Given the description of an element on the screen output the (x, y) to click on. 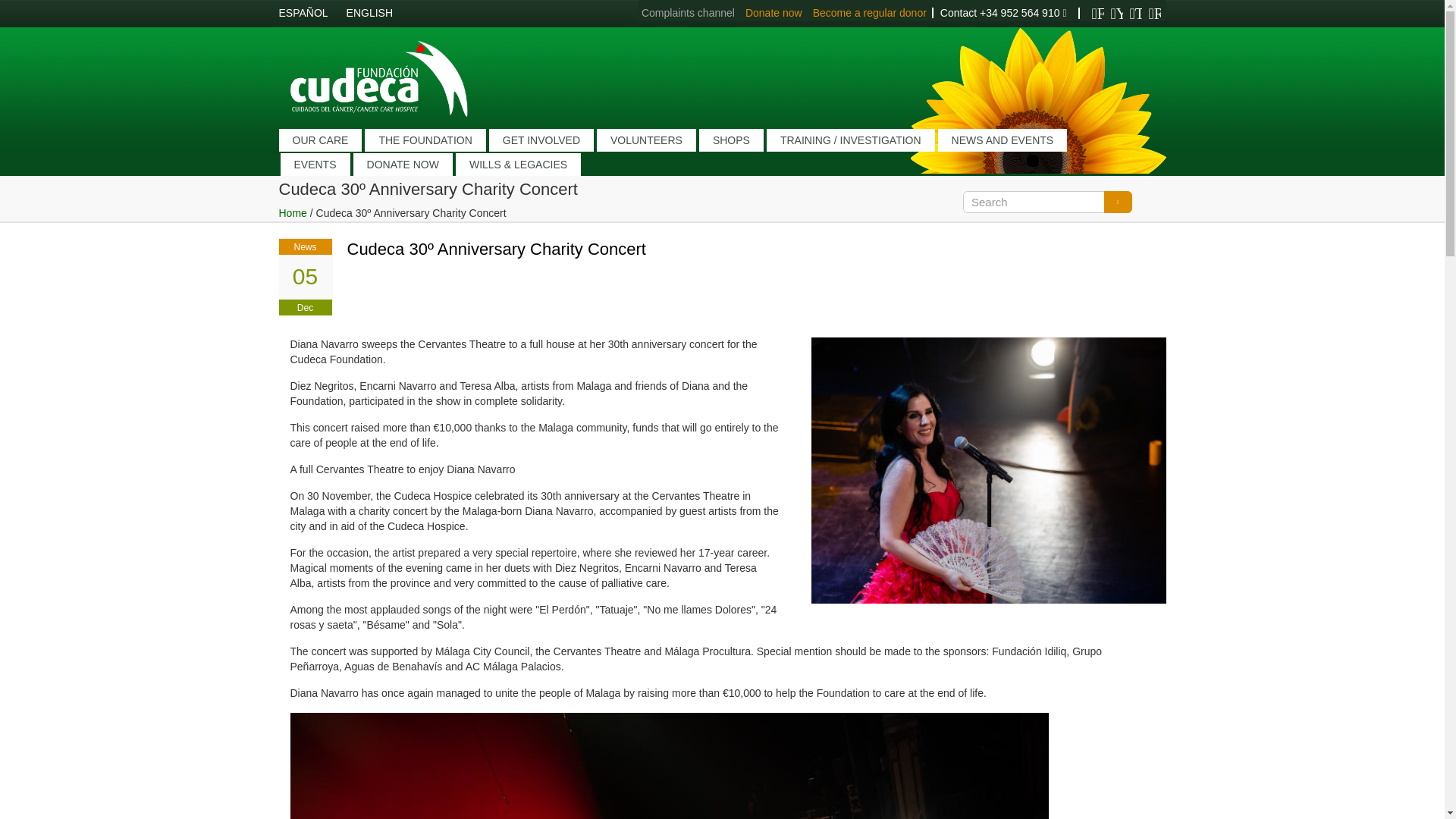
SHOPS (730, 139)
Contact (958, 12)
DONATE NOW (402, 164)
GET INVOLVED (541, 139)
Donate now (773, 12)
Home (293, 213)
OUR CARE (320, 139)
VOLUNTEERS (645, 139)
THE FOUNDATION (424, 139)
Complaints channel (688, 12)
